Given the description of an element on the screen output the (x, y) to click on. 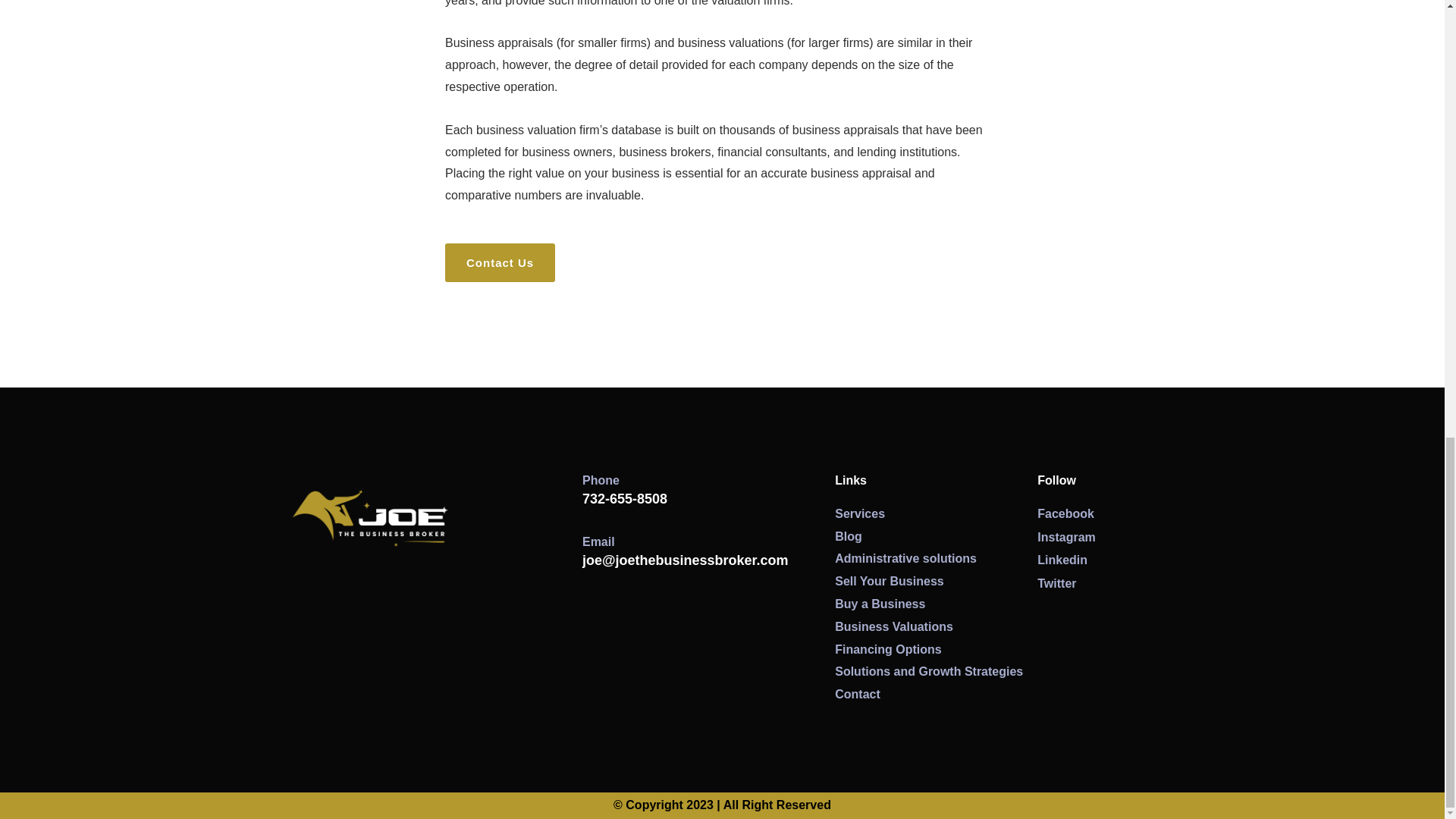
Contact Us (499, 262)
Blog (935, 536)
732-655-8508 (624, 498)
Administrative solutions (935, 558)
Sell Your Business (935, 581)
Services (935, 514)
